Given the description of an element on the screen output the (x, y) to click on. 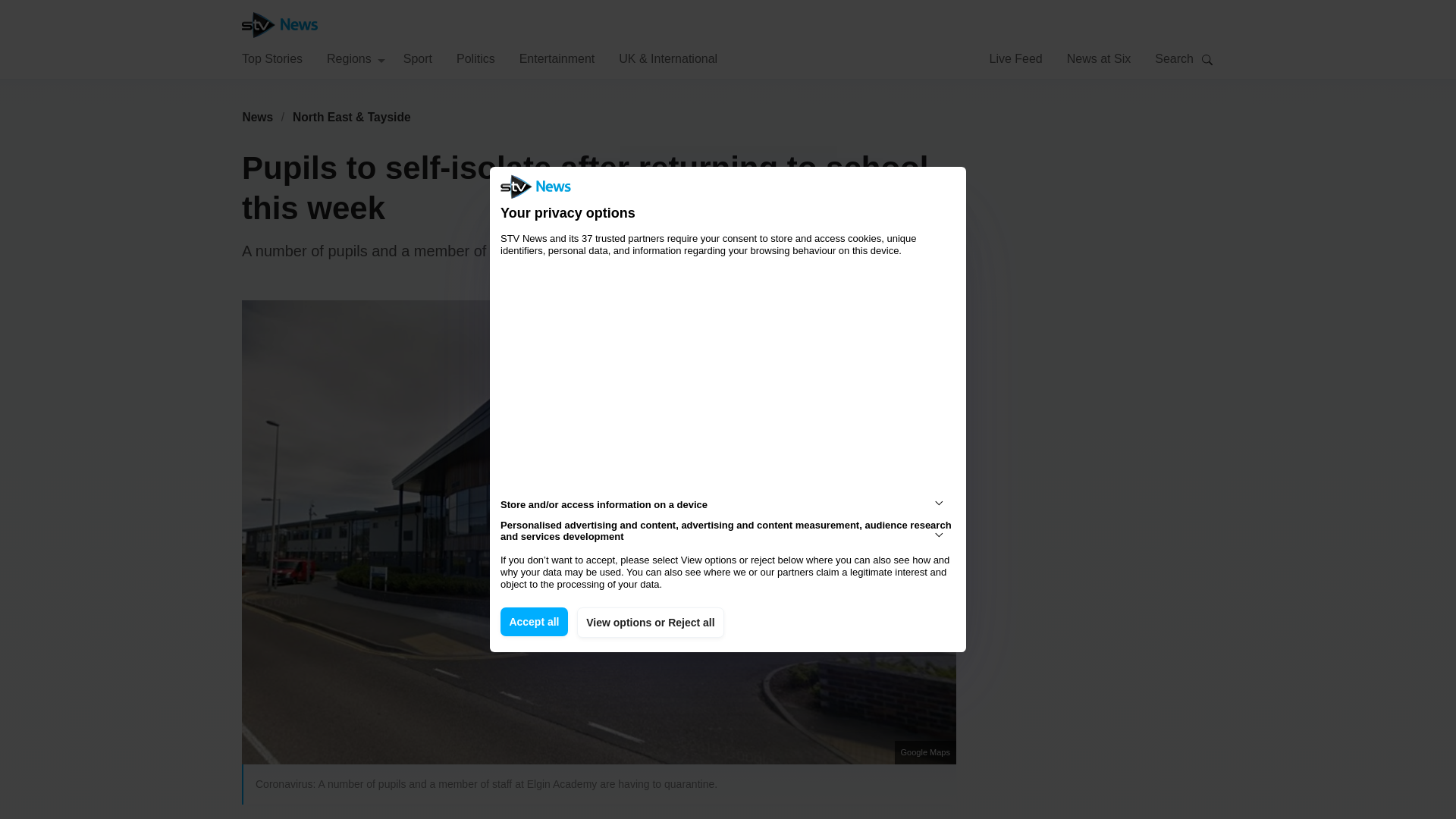
Politics (476, 57)
News at Six (1099, 57)
Live Feed (1015, 57)
Regions (355, 57)
Search (1206, 59)
Top Stories (271, 57)
News (257, 116)
Entertainment (557, 57)
